Given the description of an element on the screen output the (x, y) to click on. 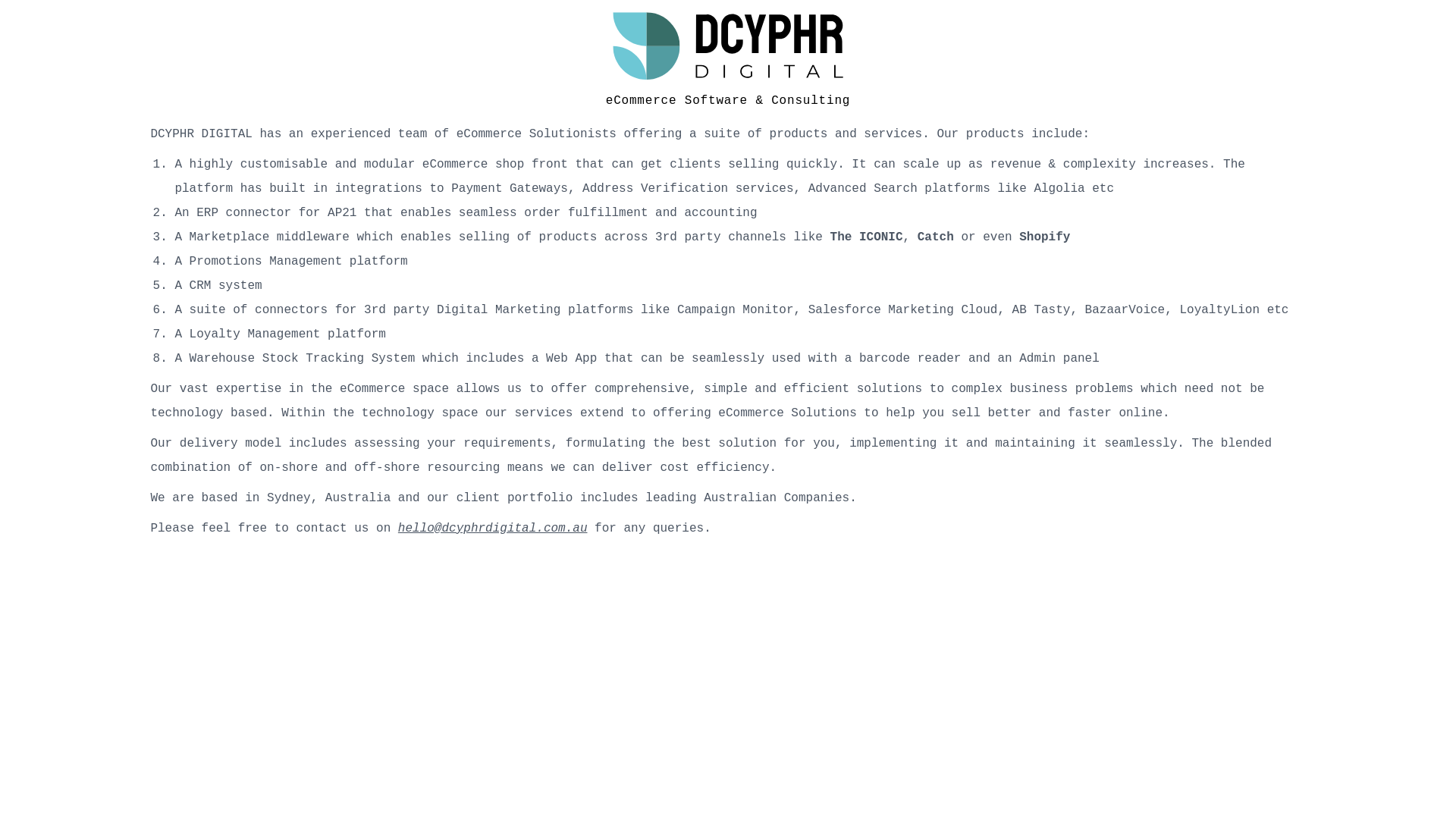
hello@dcyphrdigital.com.au Element type: text (492, 528)
